Given the description of an element on the screen output the (x, y) to click on. 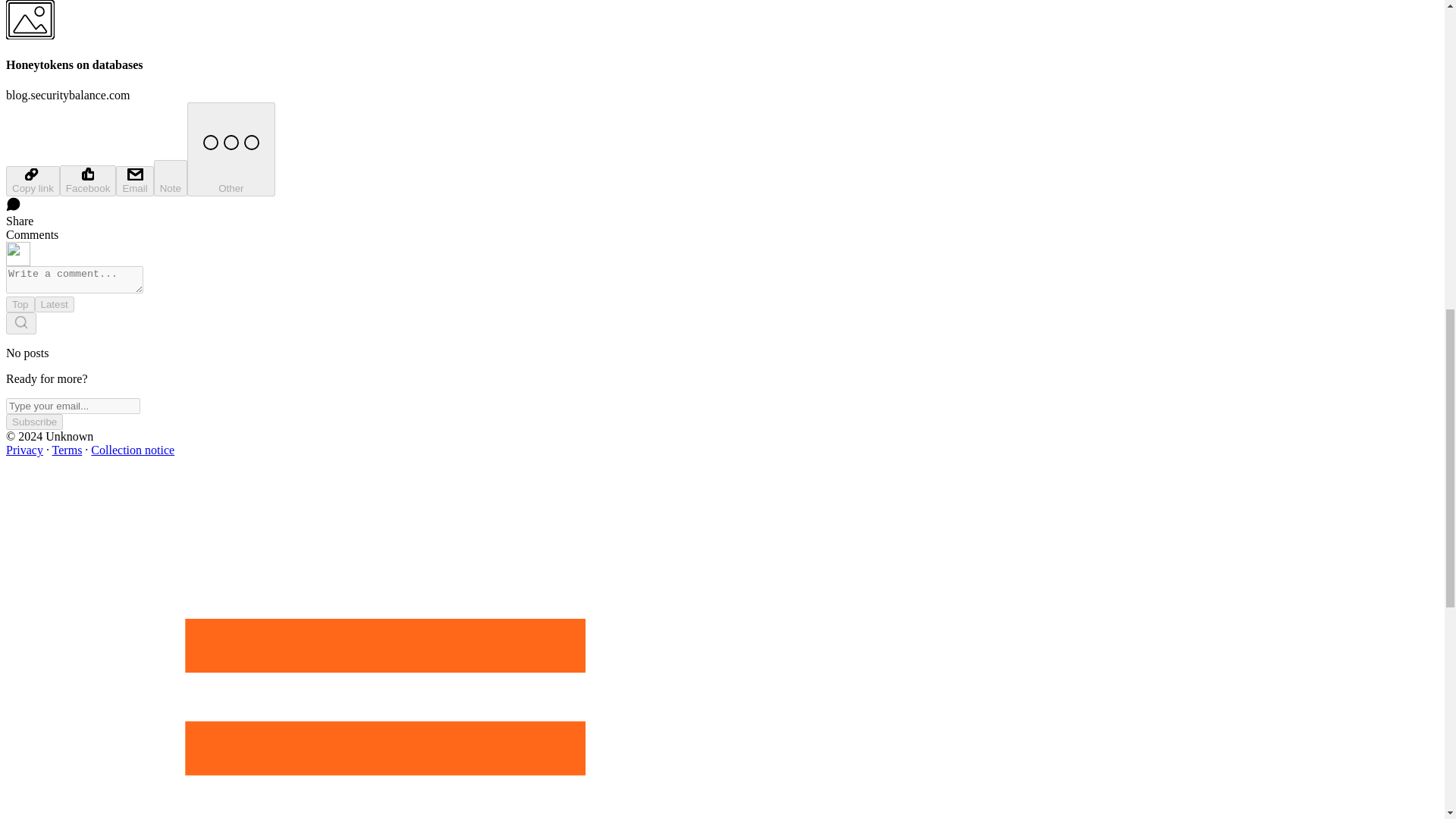
Top (19, 304)
Copy link (32, 181)
Note (170, 177)
Email (134, 181)
Other (231, 149)
Facebook (87, 180)
Subscribe (33, 421)
Terms (67, 449)
Latest (54, 304)
Privacy (24, 449)
